Given the description of an element on the screen output the (x, y) to click on. 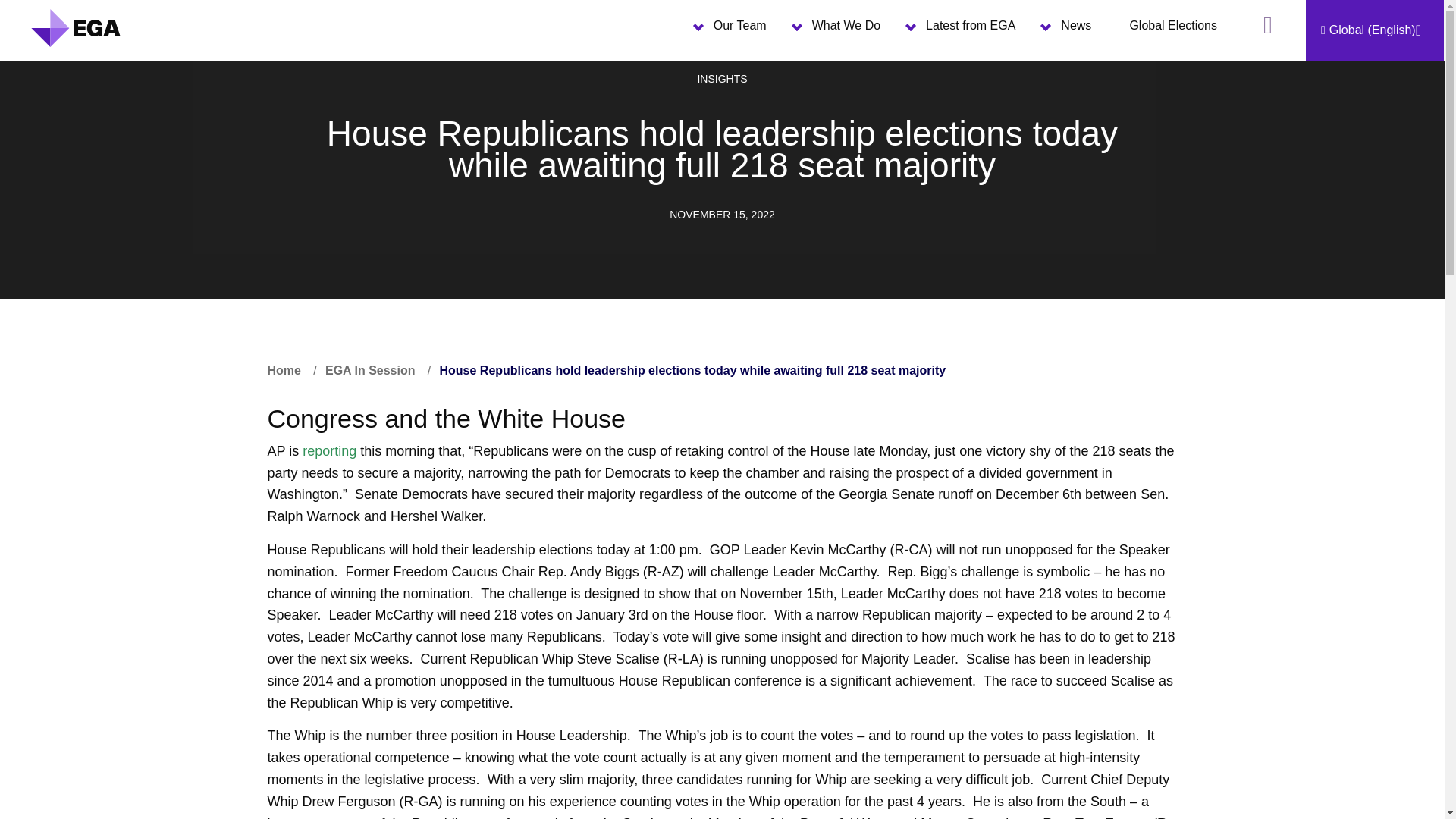
Latest from EGA (970, 30)
Global Elections (1172, 30)
News (1075, 30)
Home (289, 369)
EGA In Session (370, 369)
Apply (1406, 84)
What We Do (845, 30)
Our Team (739, 30)
